Given the description of an element on the screen output the (x, y) to click on. 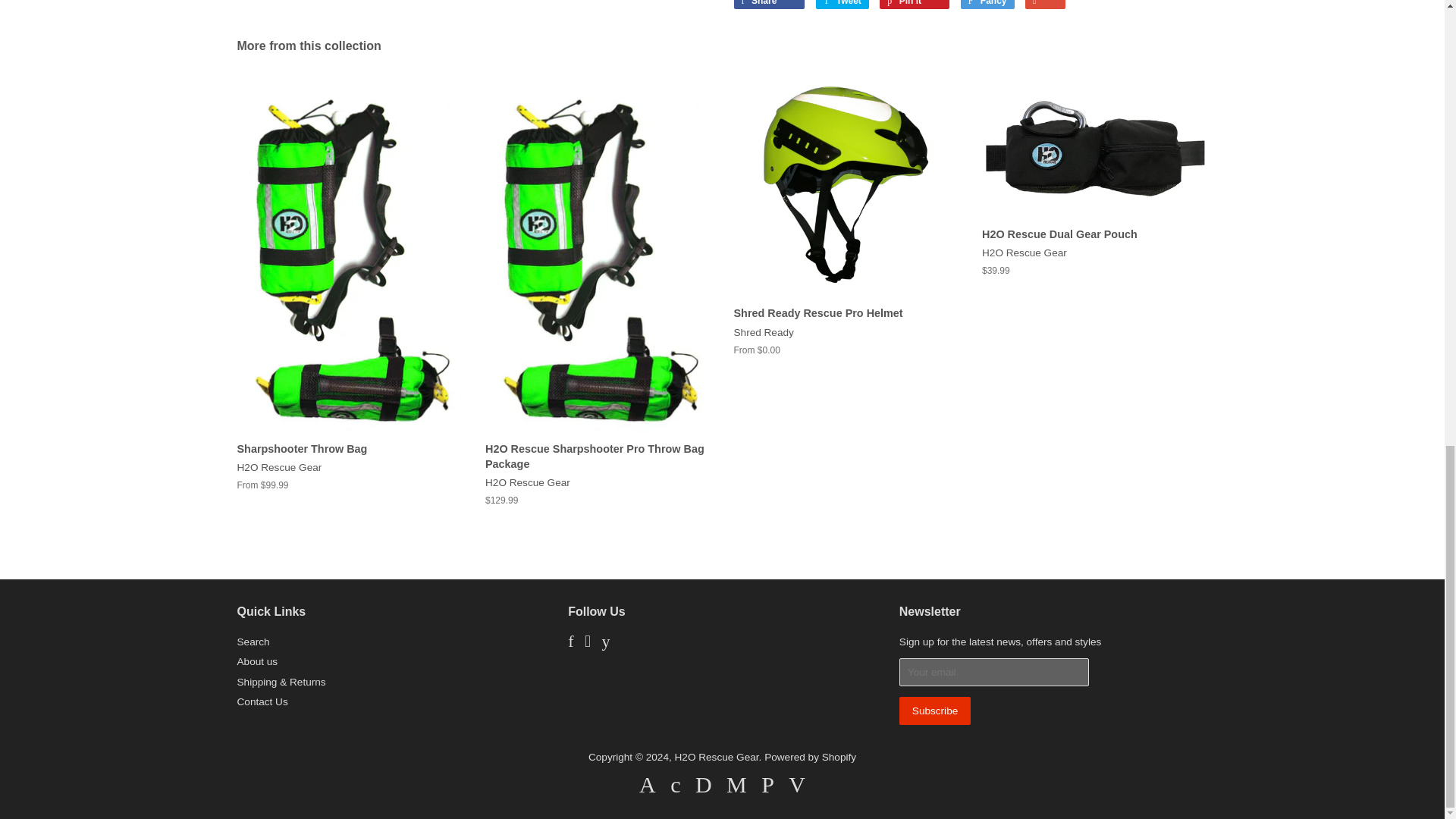
Add to Fancy (987, 4)
H2O Rescue Gear on Facebook (570, 643)
H2O Rescue Gear on YouTube (605, 643)
Pin on Pinterest (914, 4)
Subscribe (935, 710)
Tweet on Twitter (842, 4)
Share on Facebook (769, 4)
H2O Rescue Gear on Instagram (588, 643)
